Given the description of an element on the screen output the (x, y) to click on. 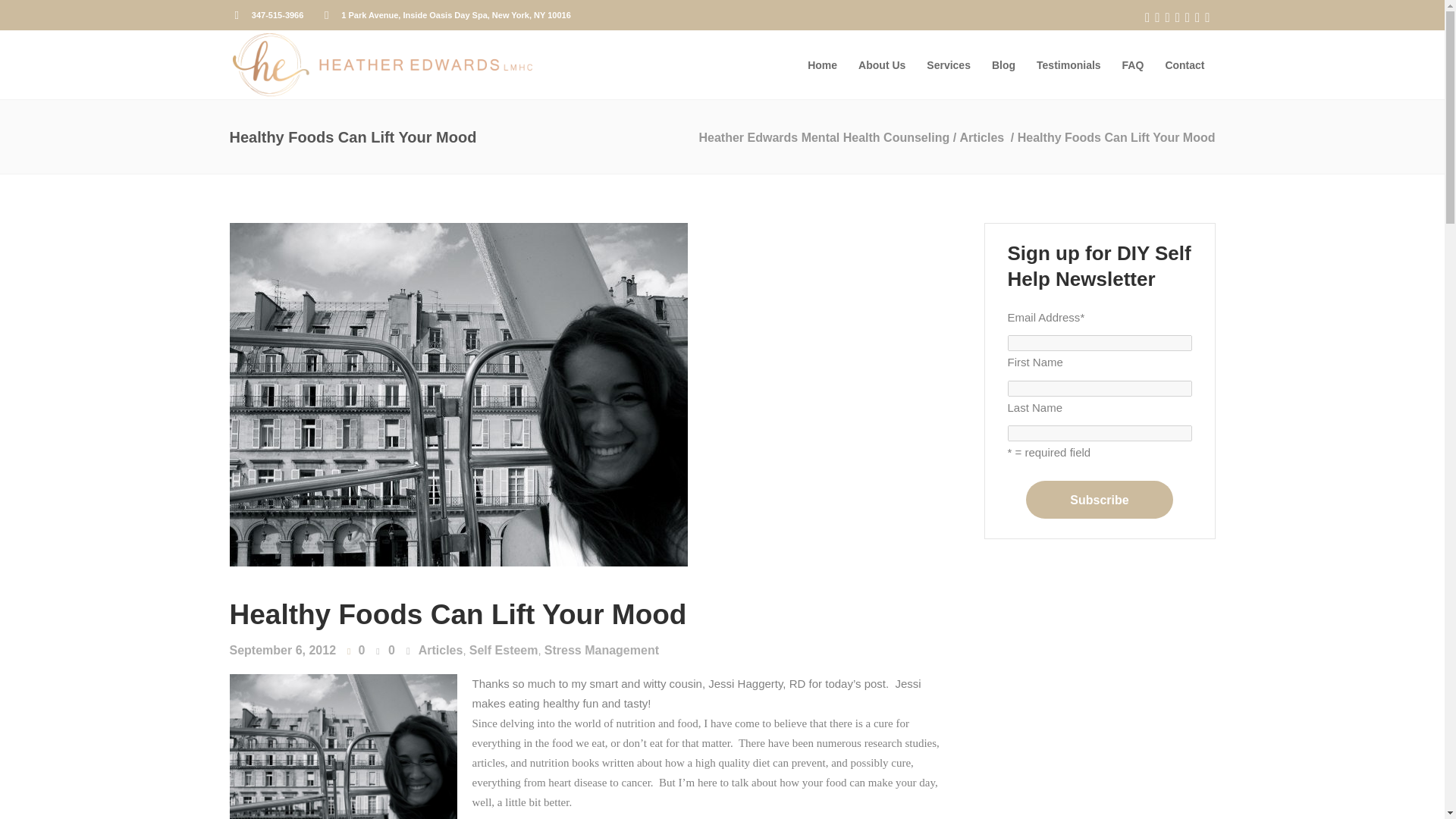
Like this (356, 651)
Healthy Foods Can Lift Your Mood (456, 613)
Contact (1184, 64)
FAQ (1133, 64)
Testimonials (1069, 64)
Home (821, 64)
Subscribe (1099, 499)
About Us (881, 64)
Services (948, 64)
Blog (1003, 64)
